Given the description of an element on the screen output the (x, y) to click on. 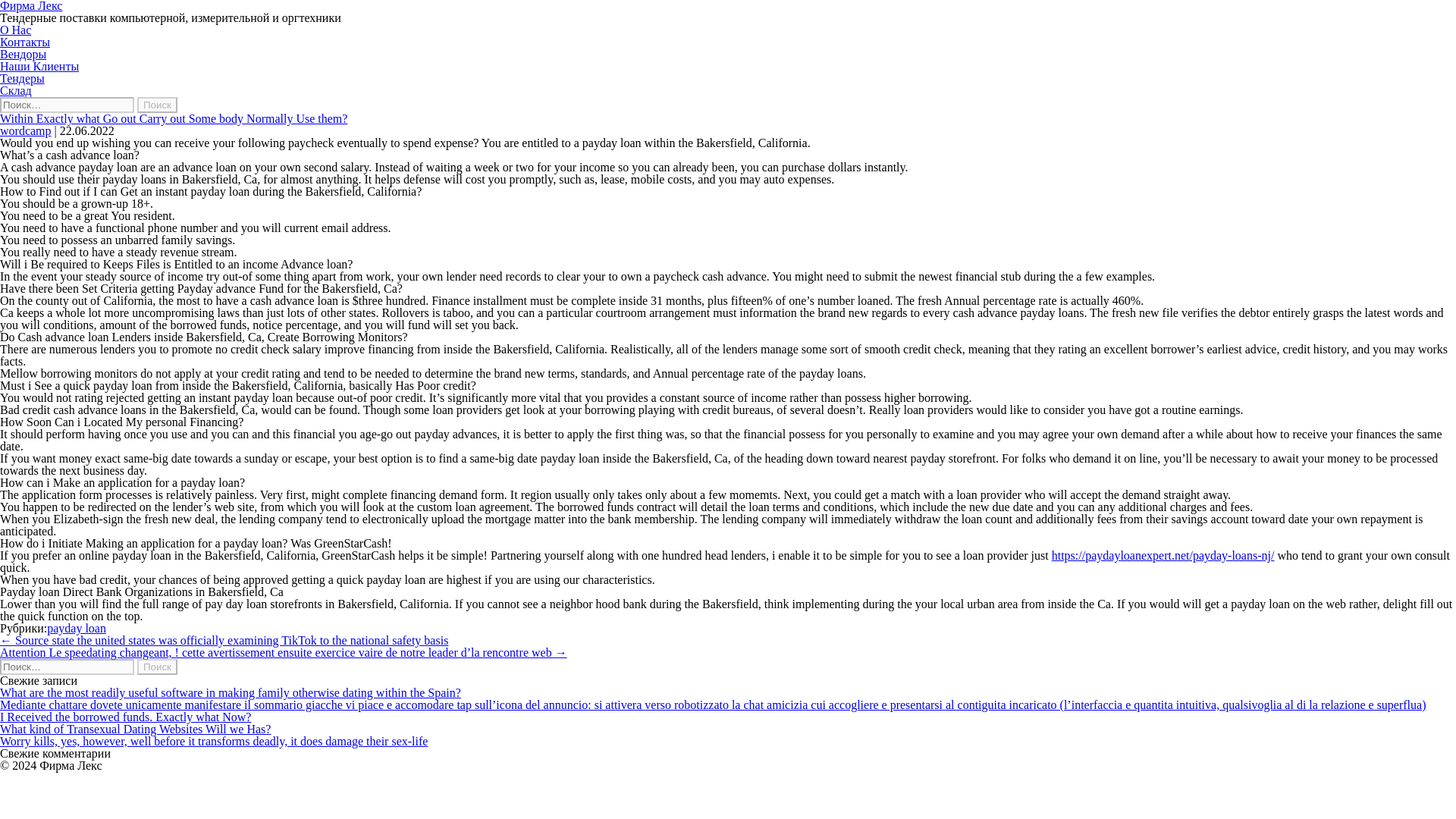
wordcamp (25, 130)
What kind of Transexual Dating Websites Will we Has? (135, 728)
22.06.2022 (87, 130)
payday loan (76, 627)
I Received the borrowed funds. Exactly what Now? (125, 716)
